Given the description of an element on the screen output the (x, y) to click on. 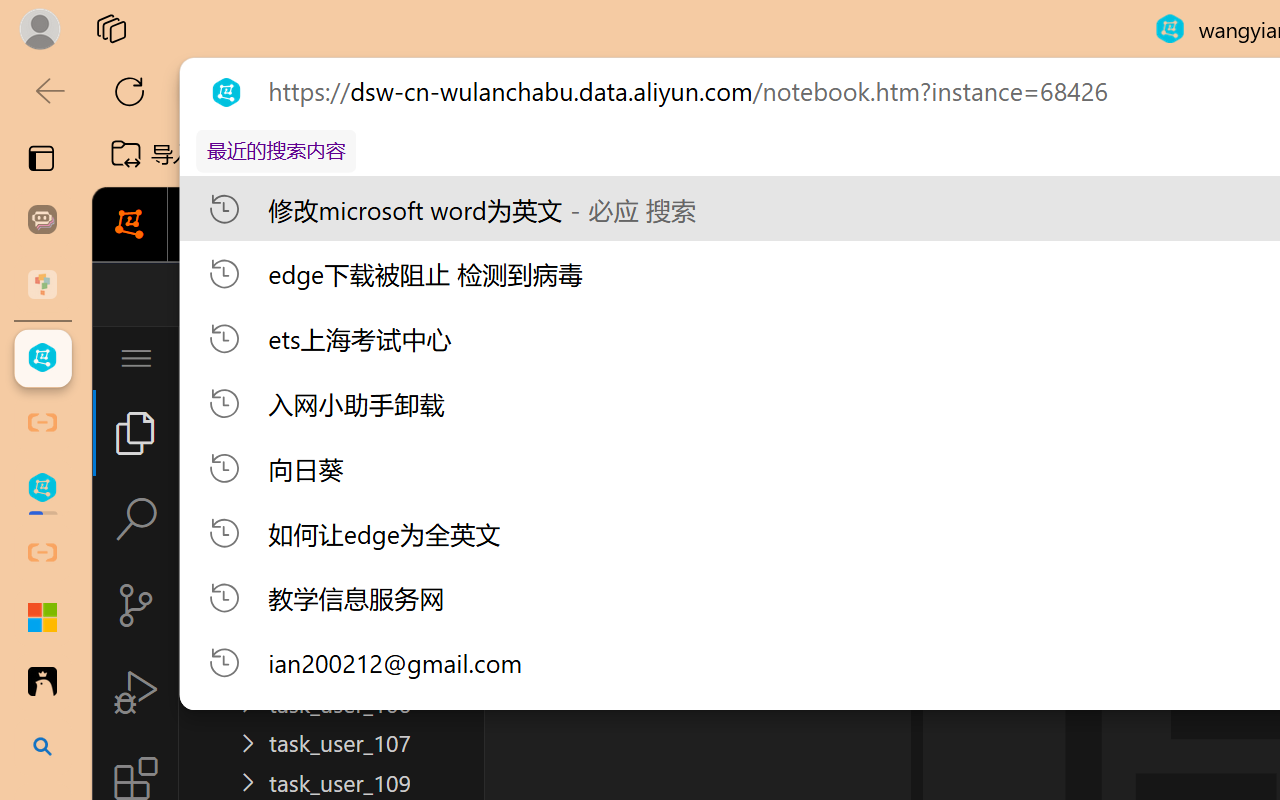
Class: menubar compact overflow-menu-only inactive (135, 358)
Terminal (1046, 225)
Run and Debug (Ctrl+Shift+D) (135, 692)
Adjust indents and spacing - Microsoft Support (42, 617)
Class: actions-container (1027, 294)
Search (Ctrl+Shift+F) (135, 519)
